Given the description of an element on the screen output the (x, y) to click on. 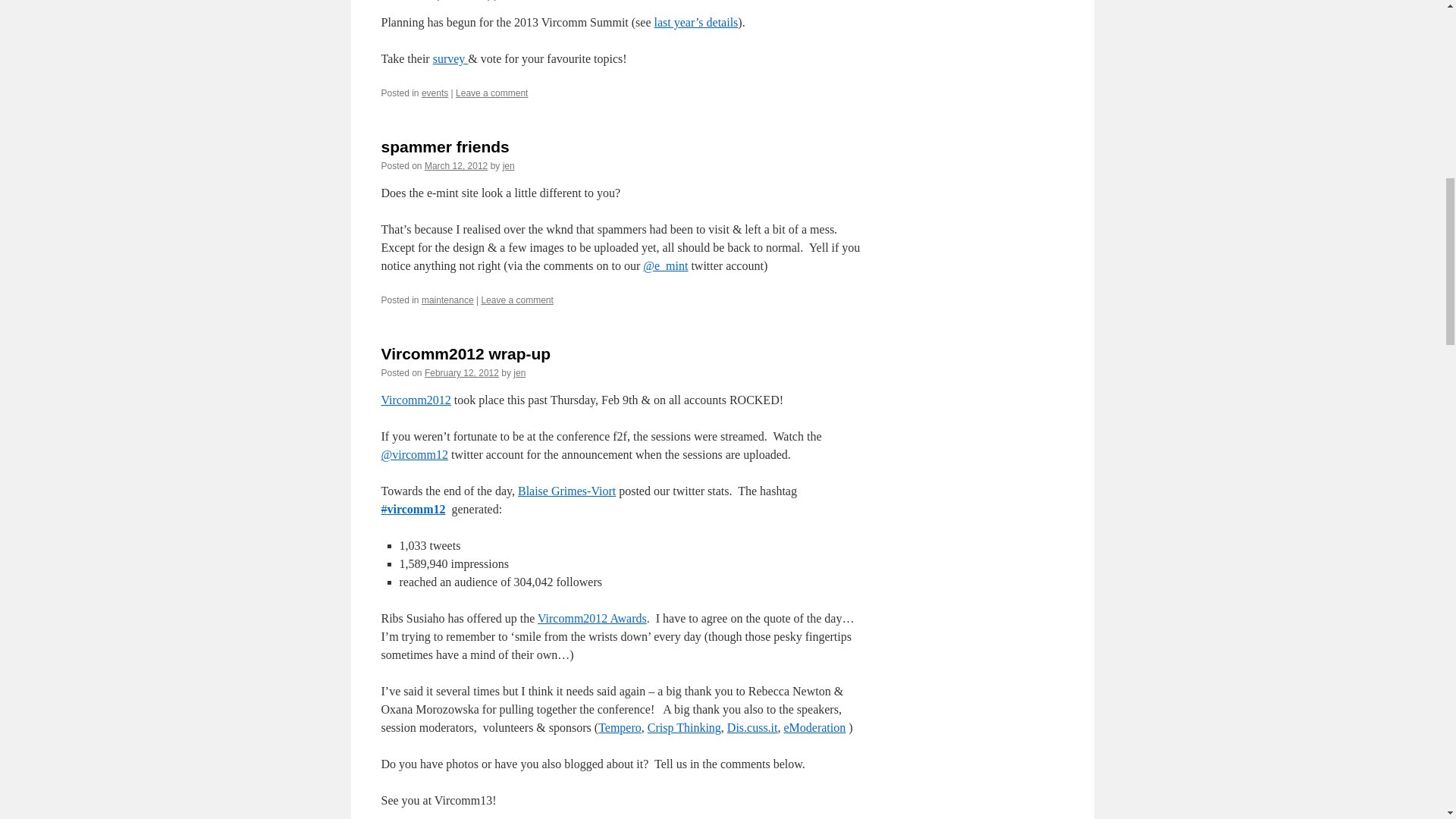
View all posts by jen (508, 165)
Leave a comment (491, 92)
survey (450, 58)
February 12, 2012 (462, 372)
events (435, 92)
e-mint on Twitter (665, 265)
Vircomm2012 wrap-up (465, 353)
Leave a comment (516, 299)
maintenance (448, 299)
Vircomm2012 (414, 399)
